Given the description of an element on the screen output the (x, y) to click on. 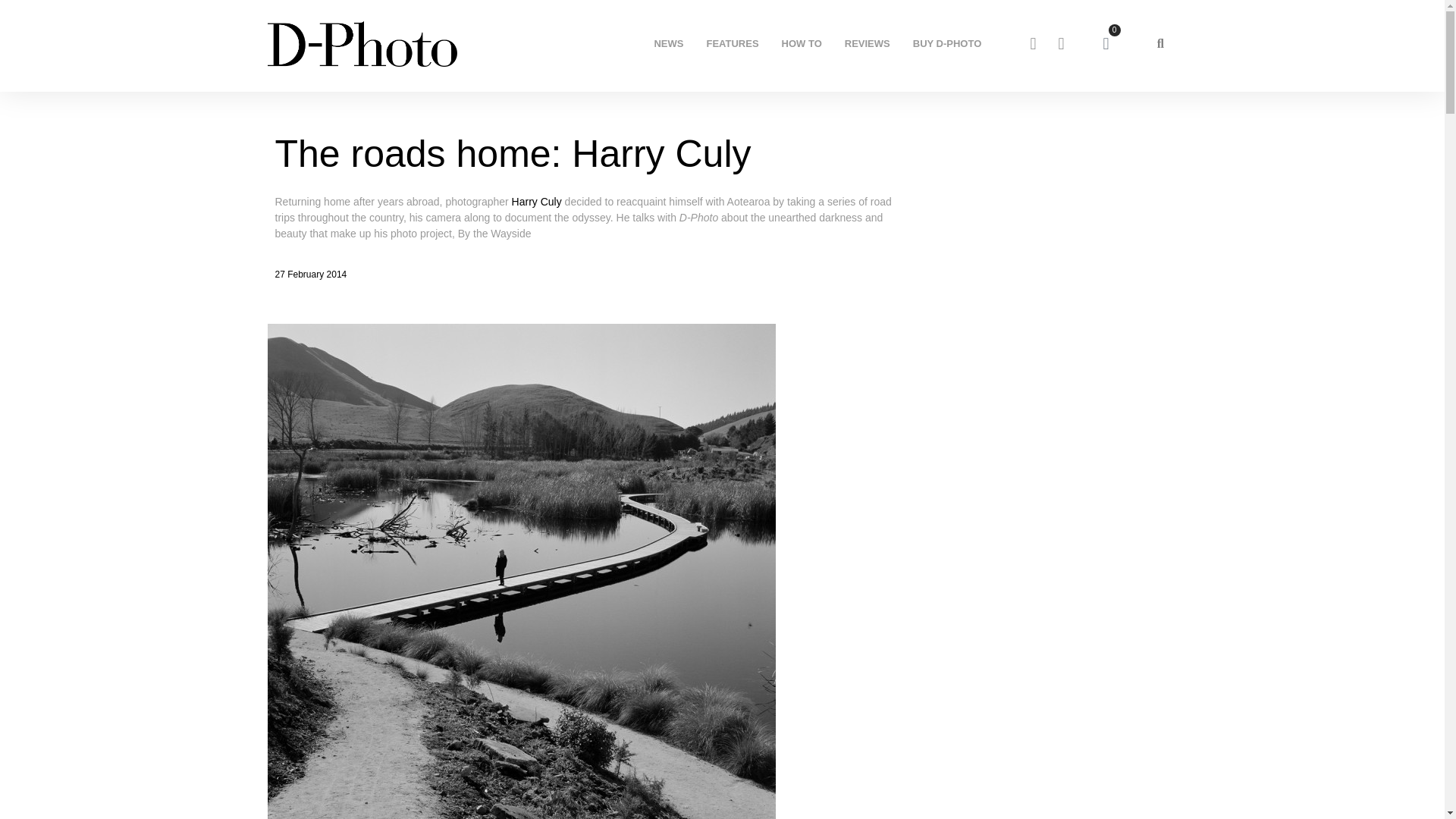
NEWS (668, 43)
REVIEWS (866, 43)
FEATURES (732, 43)
BUY D-PHOTO (946, 43)
Harry Culy (537, 201)
0 (1105, 43)
HOW TO (801, 43)
